Given the description of an element on the screen output the (x, y) to click on. 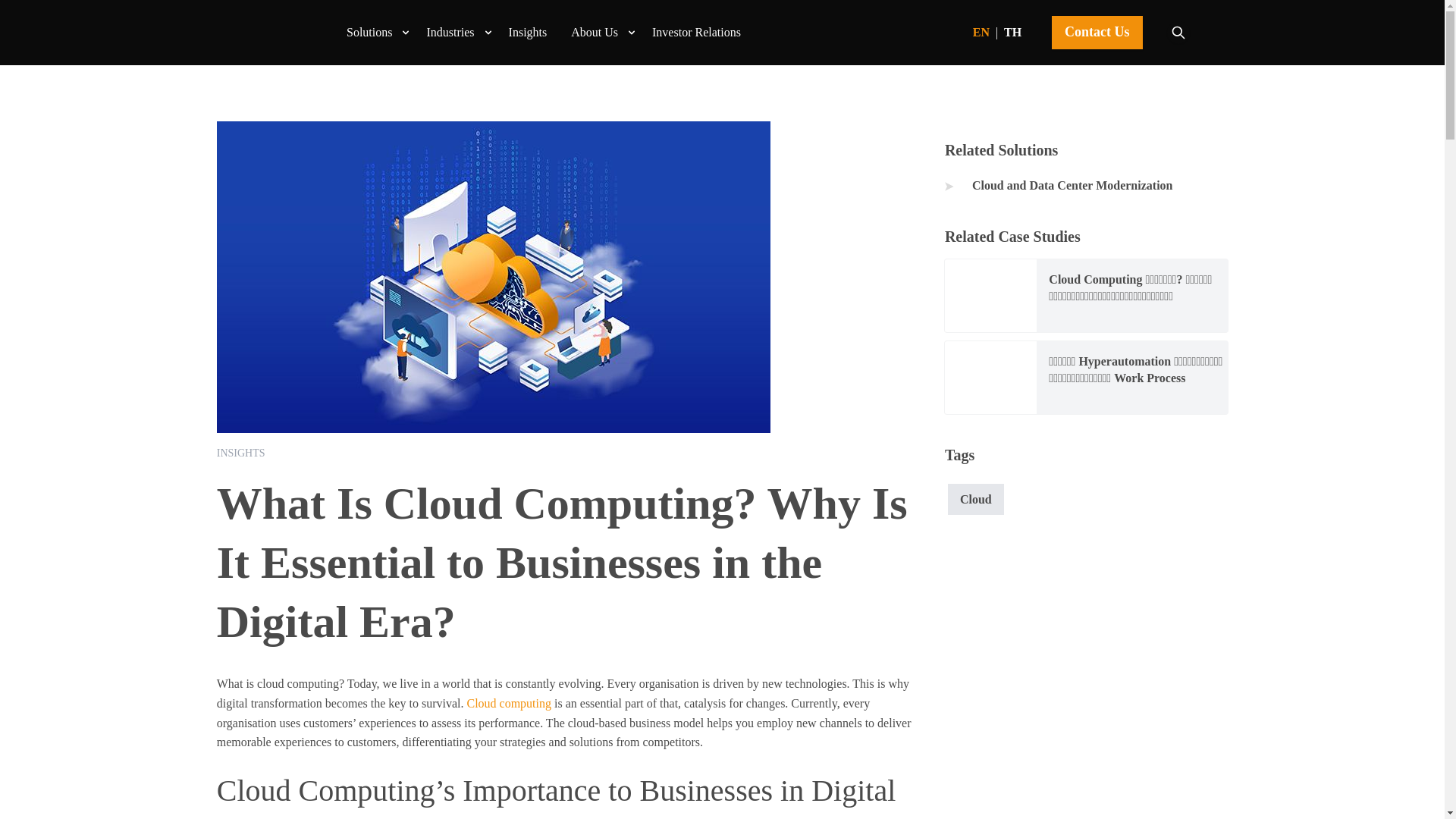
EN (981, 31)
TH (1013, 31)
G-able (290, 31)
Insights (527, 32)
Cloud and Data Center Modernization (1085, 185)
Investor Relations (696, 32)
Cloud computing (508, 703)
Contact Us (1096, 31)
